Given the description of an element on the screen output the (x, y) to click on. 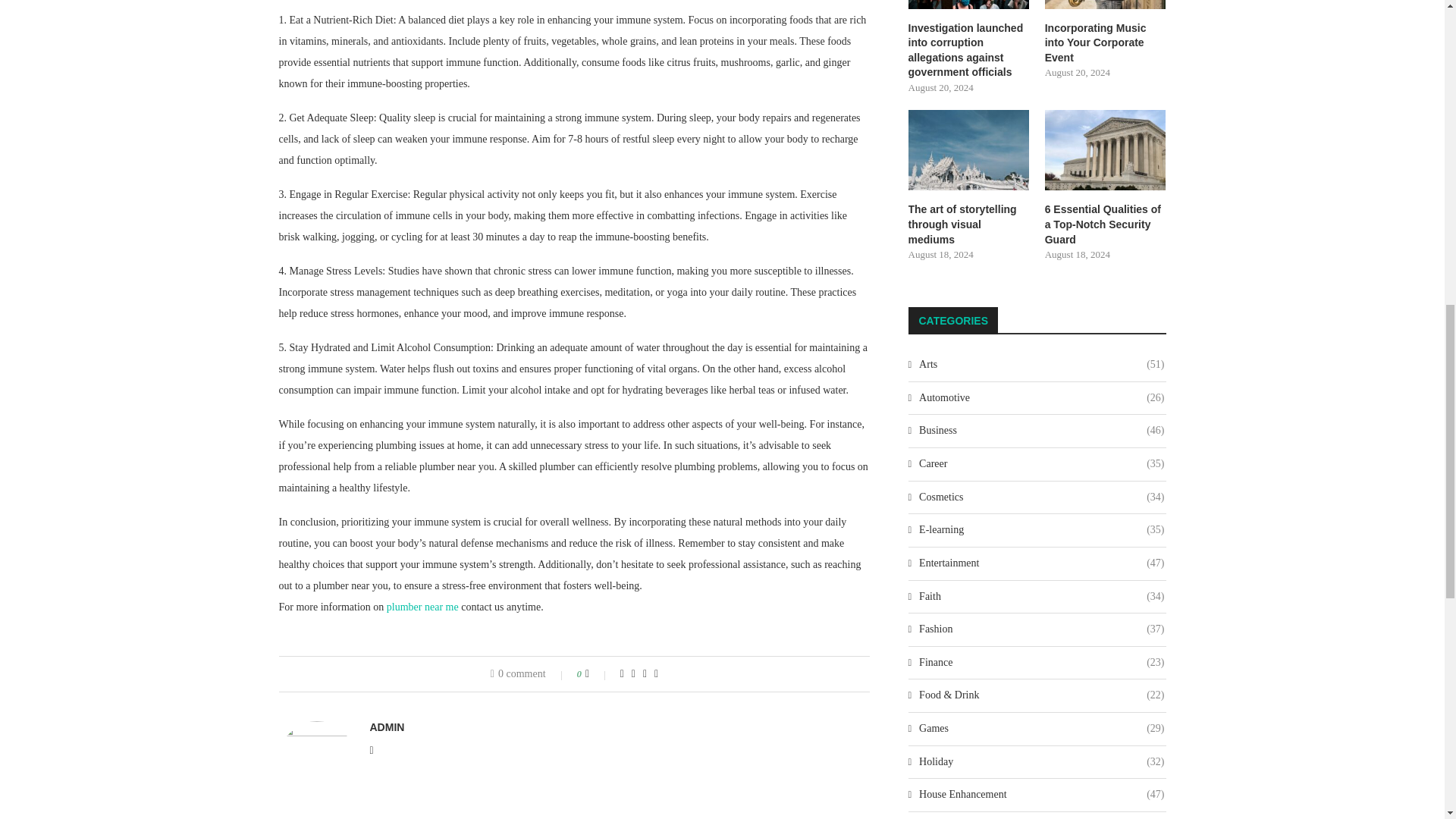
Like (597, 674)
ADMIN (386, 727)
plumber near me (422, 606)
Author admin (386, 727)
